Given the description of an element on the screen output the (x, y) to click on. 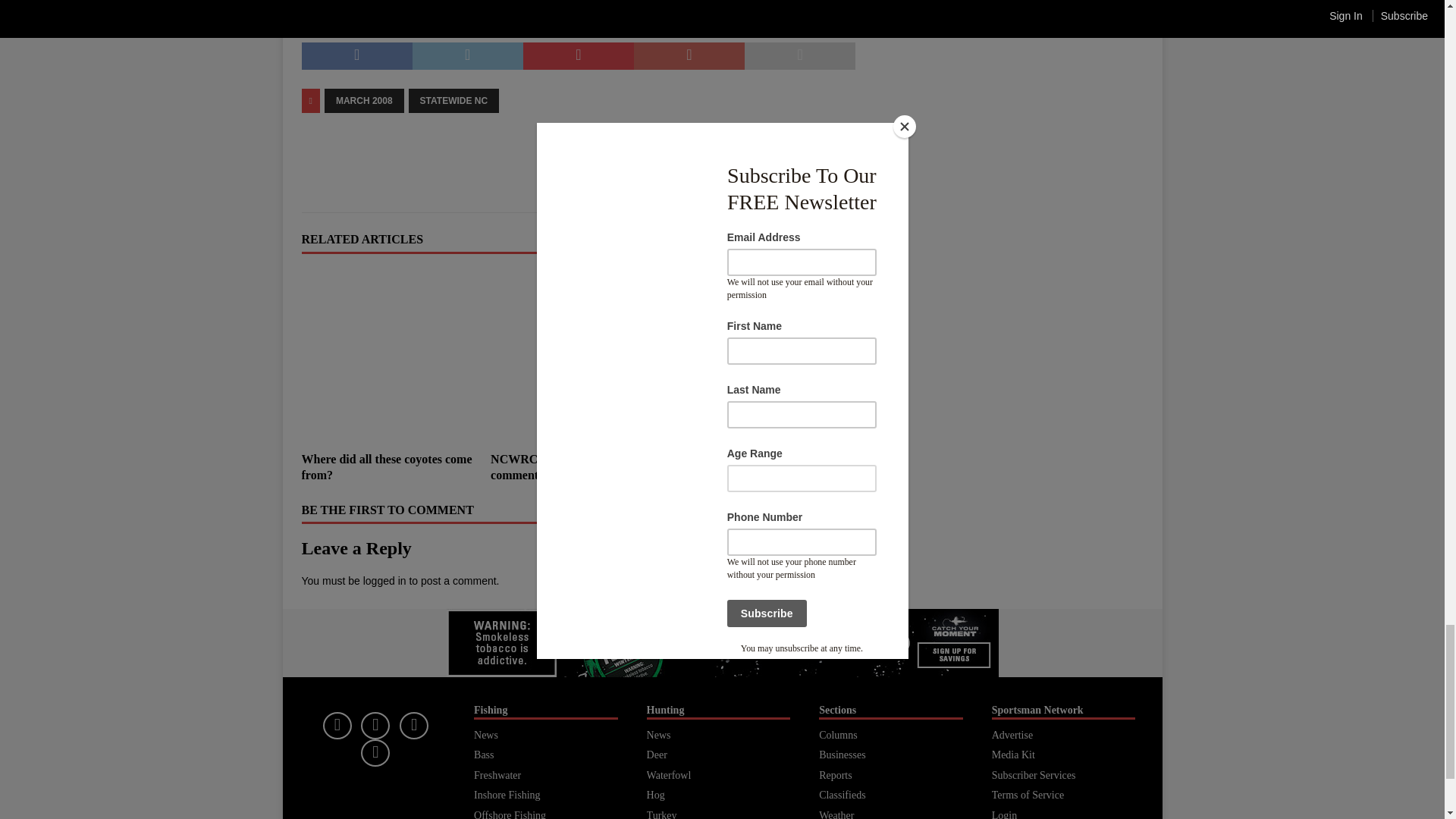
NCWRC seeking public comments on flounder closure (568, 466)
NCWRC seeking public comments on flounder closure (577, 356)
Where did all these coyotes come from? (389, 356)
Wrangling for white perch (748, 459)
Where did all these coyotes come from? (386, 466)
Wrangling for white perch (767, 356)
